Given the description of an element on the screen output the (x, y) to click on. 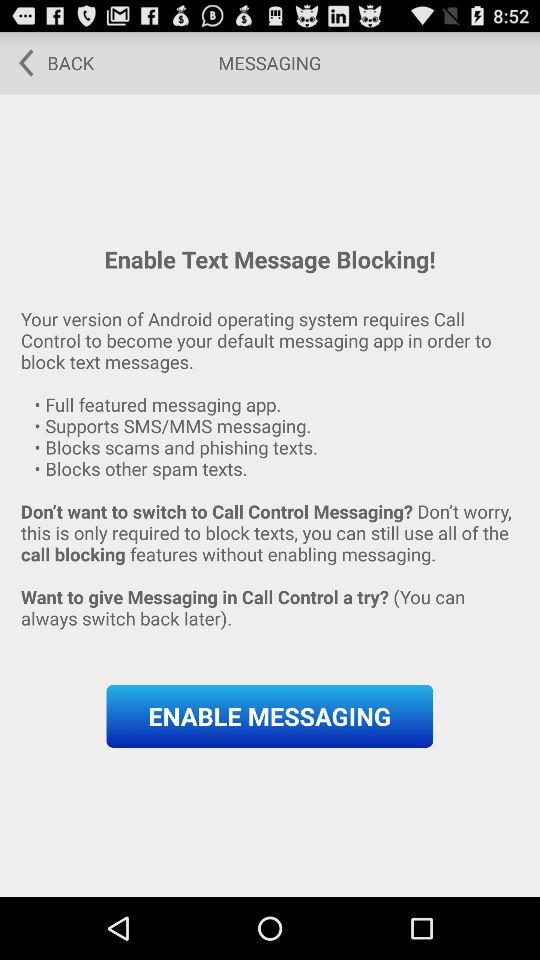
turn on the item next to the messaging item (49, 62)
